Given the description of an element on the screen output the (x, y) to click on. 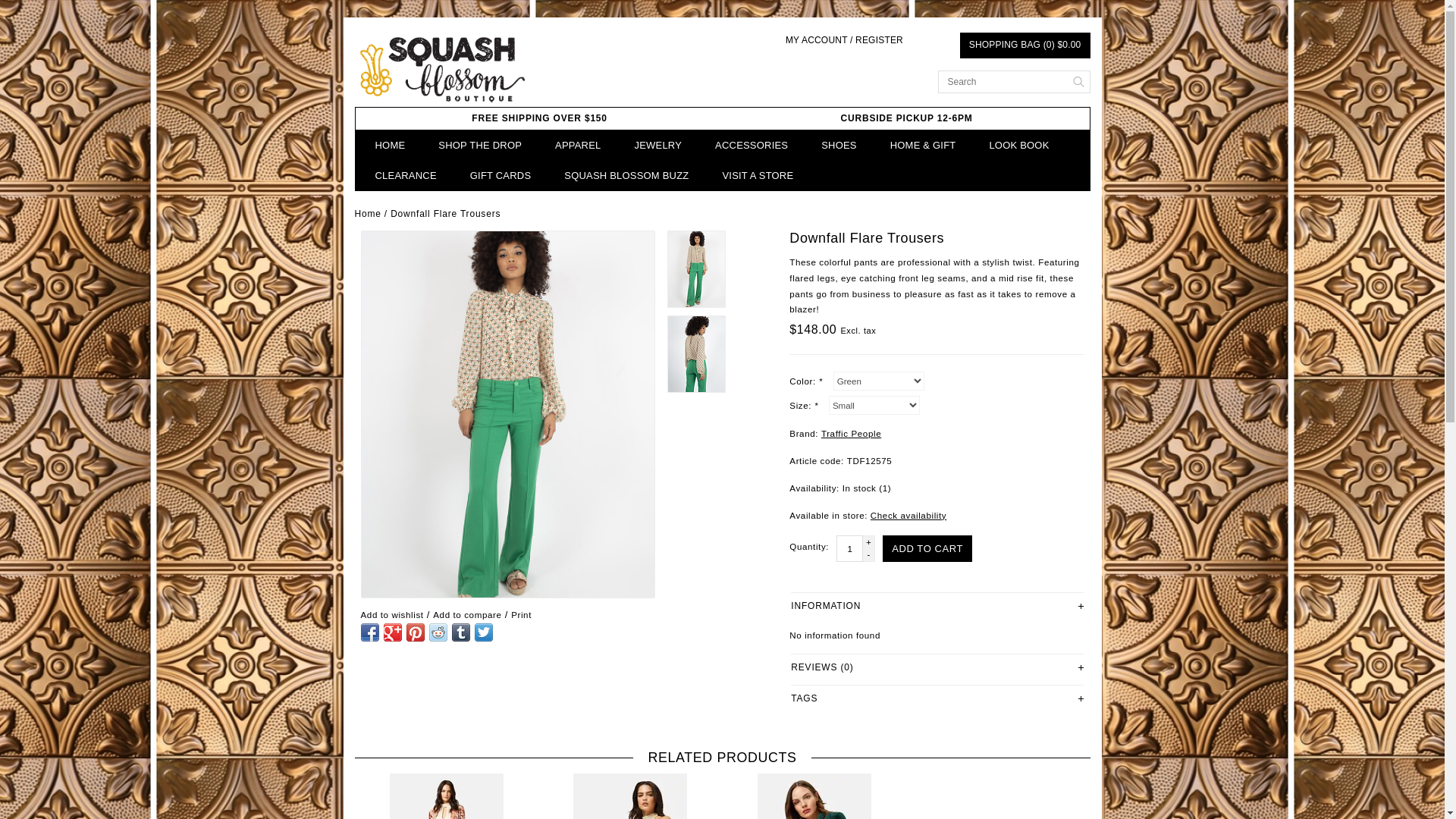
Shop The Drop (479, 145)
HOME (389, 145)
SHOP THE DROP (479, 145)
ACCESSORIES (751, 145)
APPAREL (577, 145)
1 (849, 548)
Squash Blossom Boutique (442, 69)
Apparel (577, 145)
JEWELRY (657, 145)
